Given the description of an element on the screen output the (x, y) to click on. 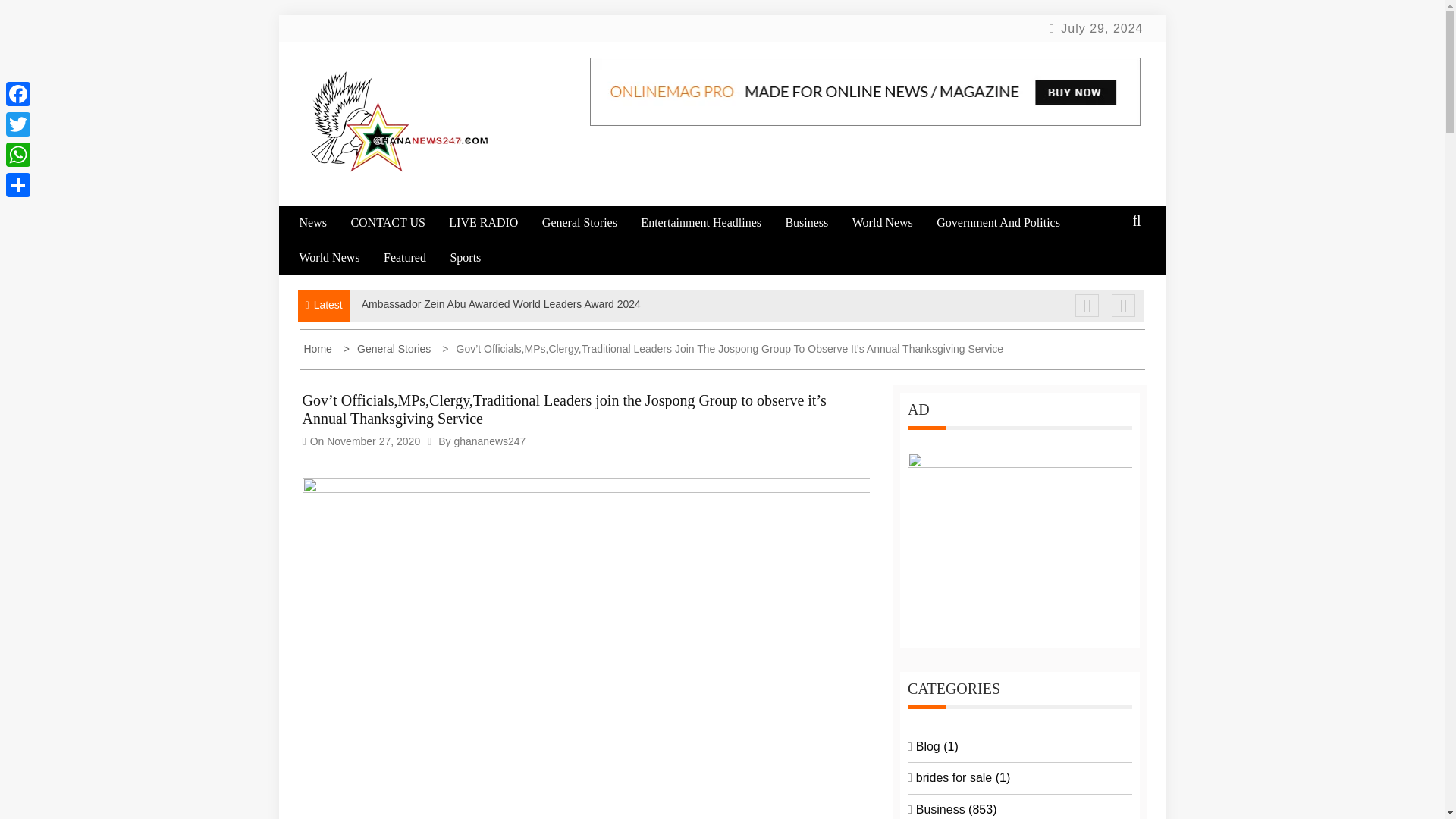
Ambassador Zein Abu Awarded World Leaders Award 2024 (500, 304)
World News (339, 257)
News (322, 222)
LIVE RADIO (493, 222)
Featured (415, 257)
Government And Politics (1008, 222)
Entertainment Headlines (710, 222)
General Stories (388, 348)
ghananews247 (488, 440)
World News (892, 222)
Business (816, 222)
Home (318, 348)
November 27, 2020 (373, 440)
General Stories (589, 222)
